Given the description of an element on the screen output the (x, y) to click on. 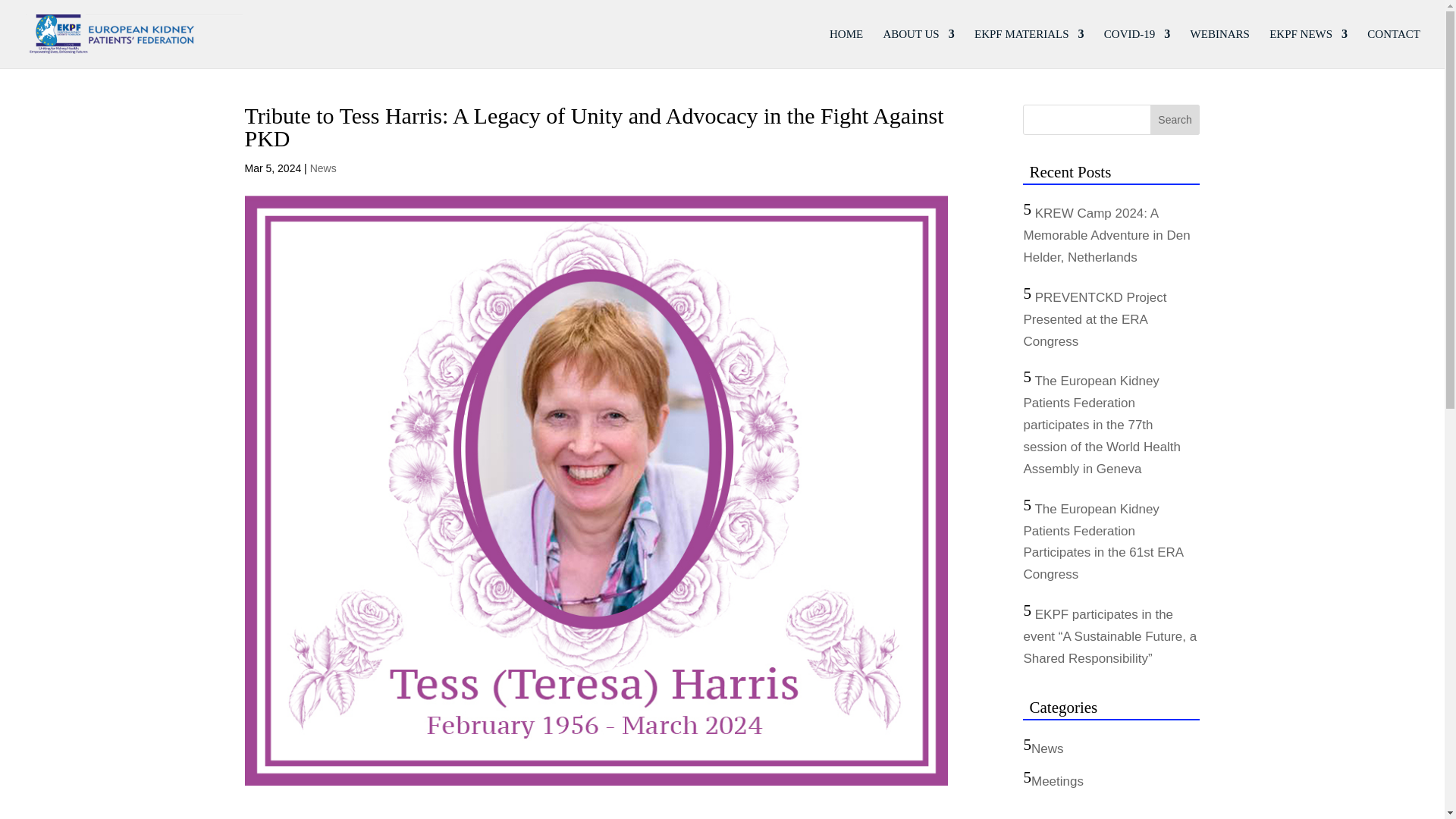
COVID-19 (1136, 47)
WEBINARS (1220, 47)
Search (1174, 119)
Meetings (1056, 780)
News (1047, 748)
Search (1174, 119)
News (323, 168)
